Given the description of an element on the screen output the (x, y) to click on. 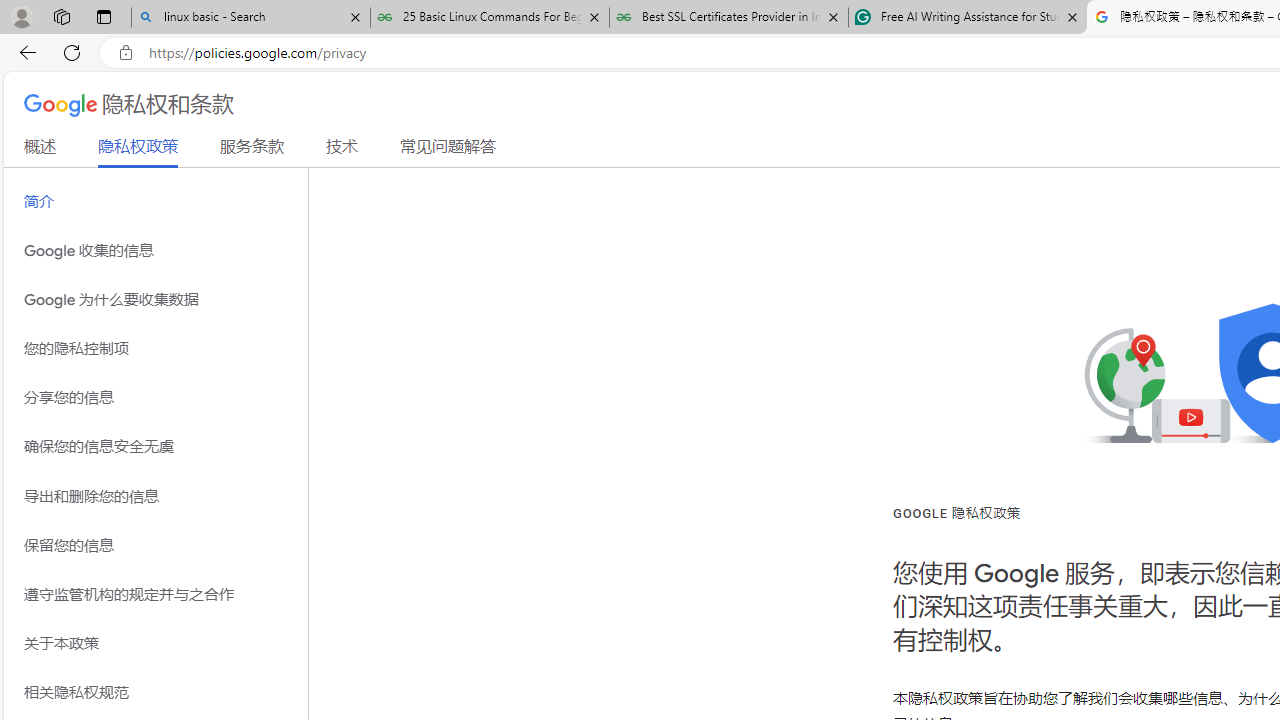
25 Basic Linux Commands For Beginners - GeeksforGeeks (490, 17)
Best SSL Certificates Provider in India - GeeksforGeeks (729, 17)
